Given the description of an element on the screen output the (x, y) to click on. 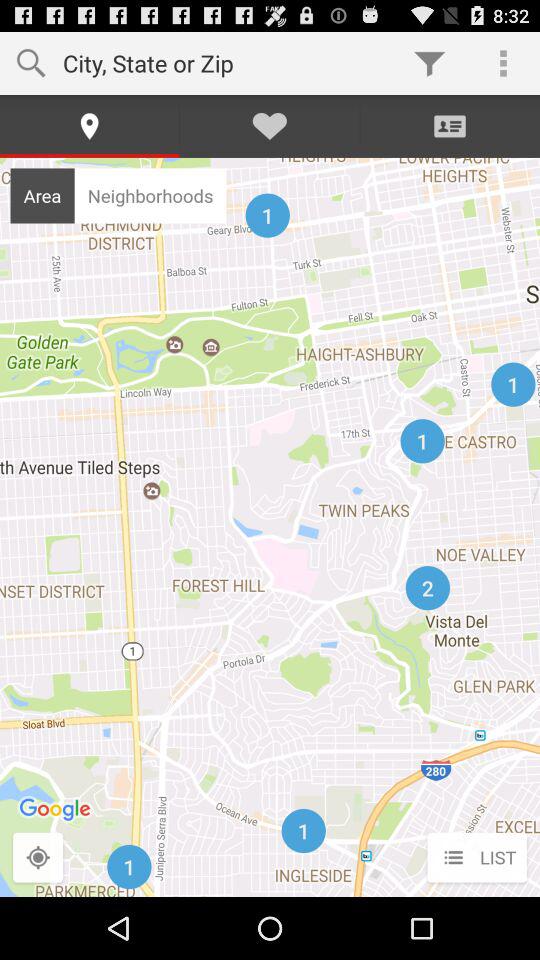
swipe until the neighborhoods item (150, 195)
